Given the description of an element on the screen output the (x, y) to click on. 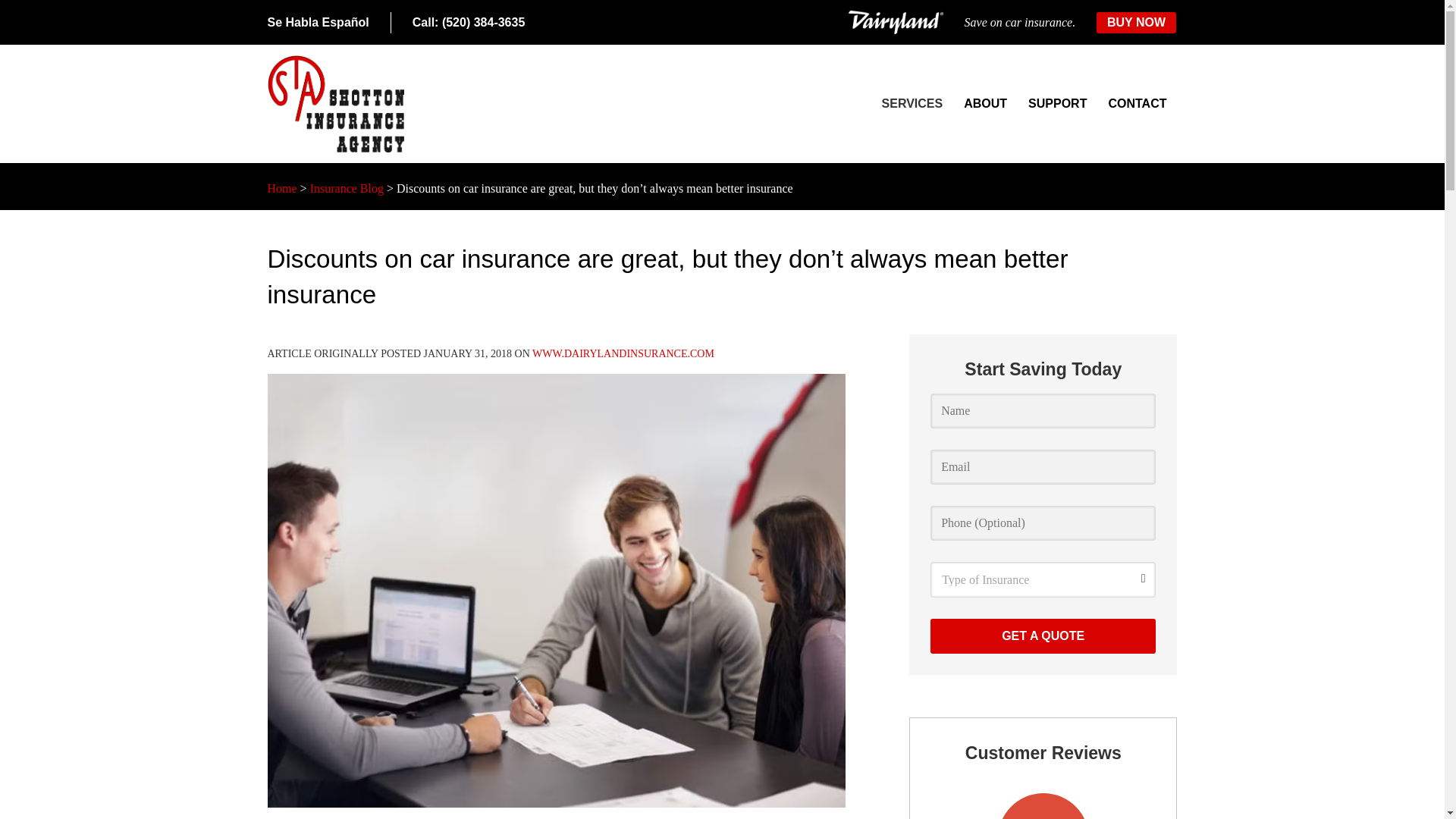
SERVICES (911, 103)
CONTACT (1136, 103)
Insurance Blog (347, 187)
SUPPORT (1057, 103)
Home (281, 187)
ABOUT (985, 103)
Dairyland Logo white (895, 22)
BUY NOW (1136, 22)
Get A Quote (1043, 636)
